Given the description of an element on the screen output the (x, y) to click on. 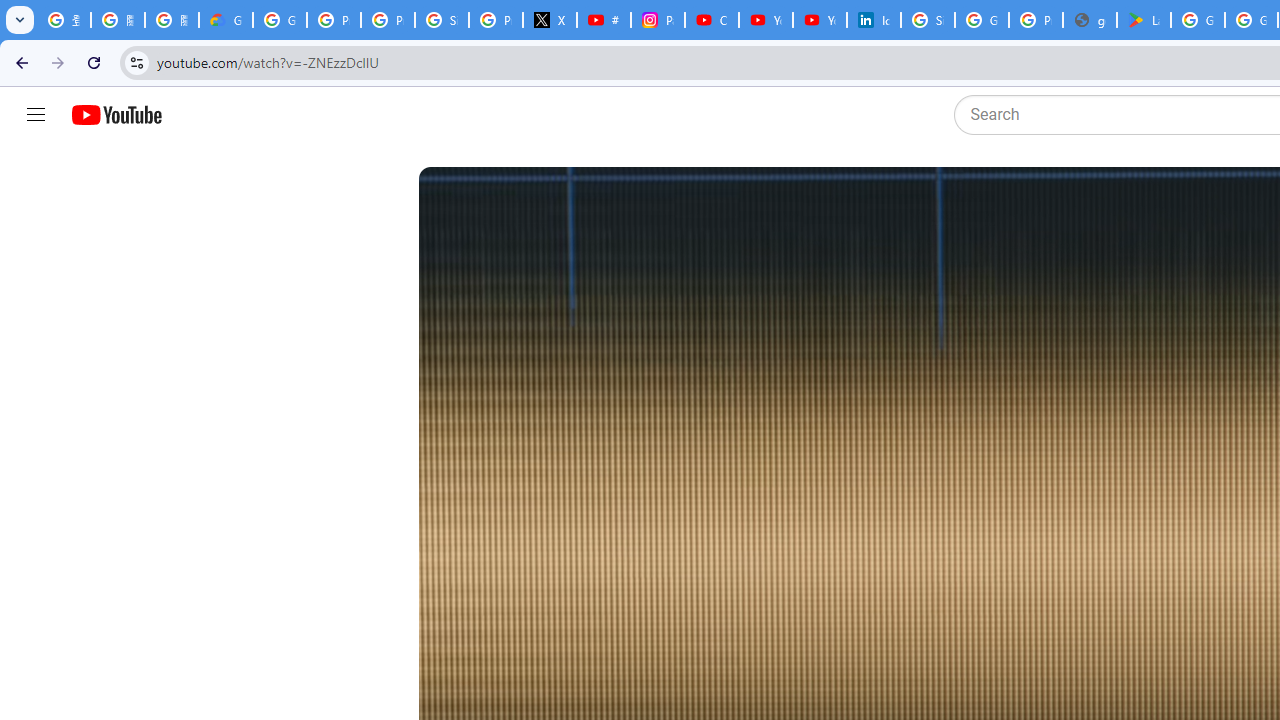
Last Shelter: Survival - Apps on Google Play (1144, 20)
Google Cloud Privacy Notice (225, 20)
Sign in - Google Accounts (441, 20)
Privacy Help Center - Policies Help (387, 20)
YouTube Culture & Trends - YouTube Top 10, 2021 (819, 20)
YouTube Home (116, 115)
X (550, 20)
google_privacy_policy_en.pdf (1089, 20)
